Given the description of an element on the screen output the (x, y) to click on. 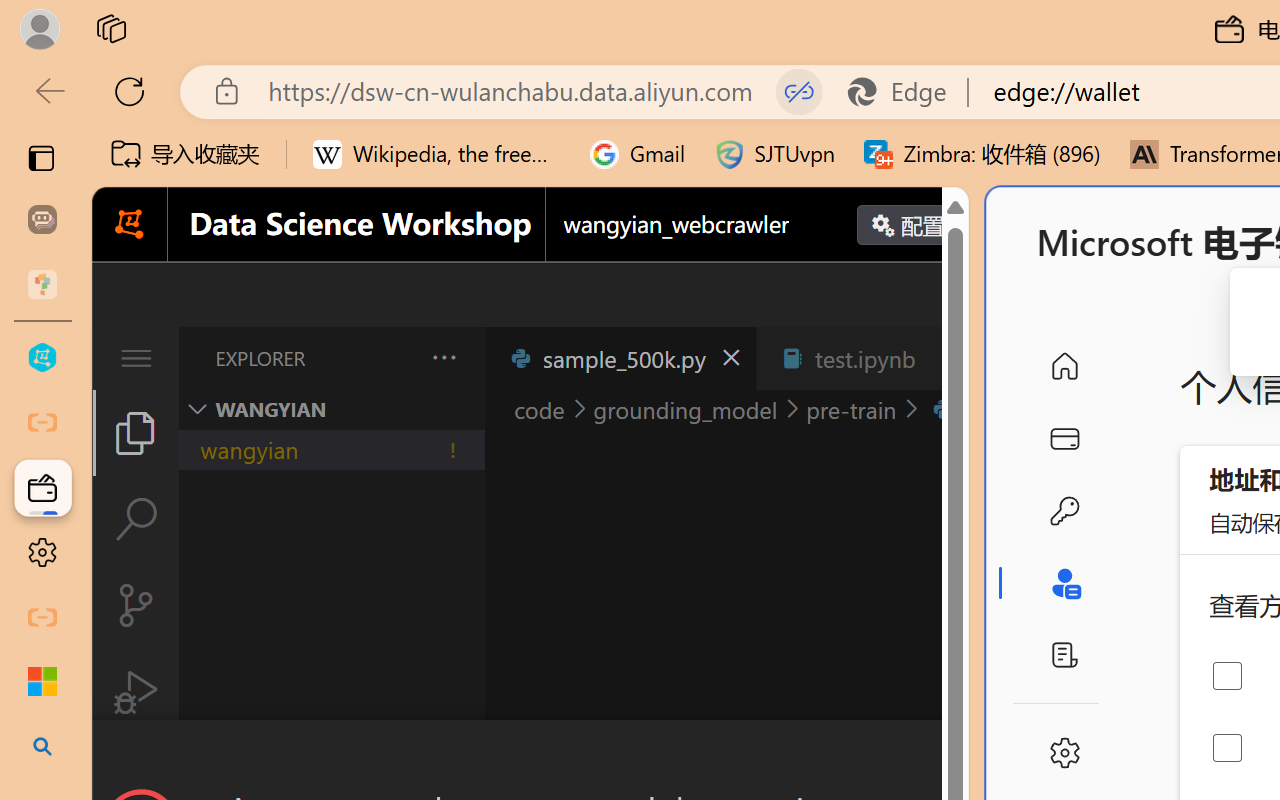
Gmail (637, 154)
Edge (905, 91)
Close (Ctrl+F4) (946, 358)
wangyian_dsw - DSW (42, 357)
Tab actions (945, 358)
test.ipynb (864, 358)
Search (Ctrl+Shift+F) (135, 519)
